Given the description of an element on the screen output the (x, y) to click on. 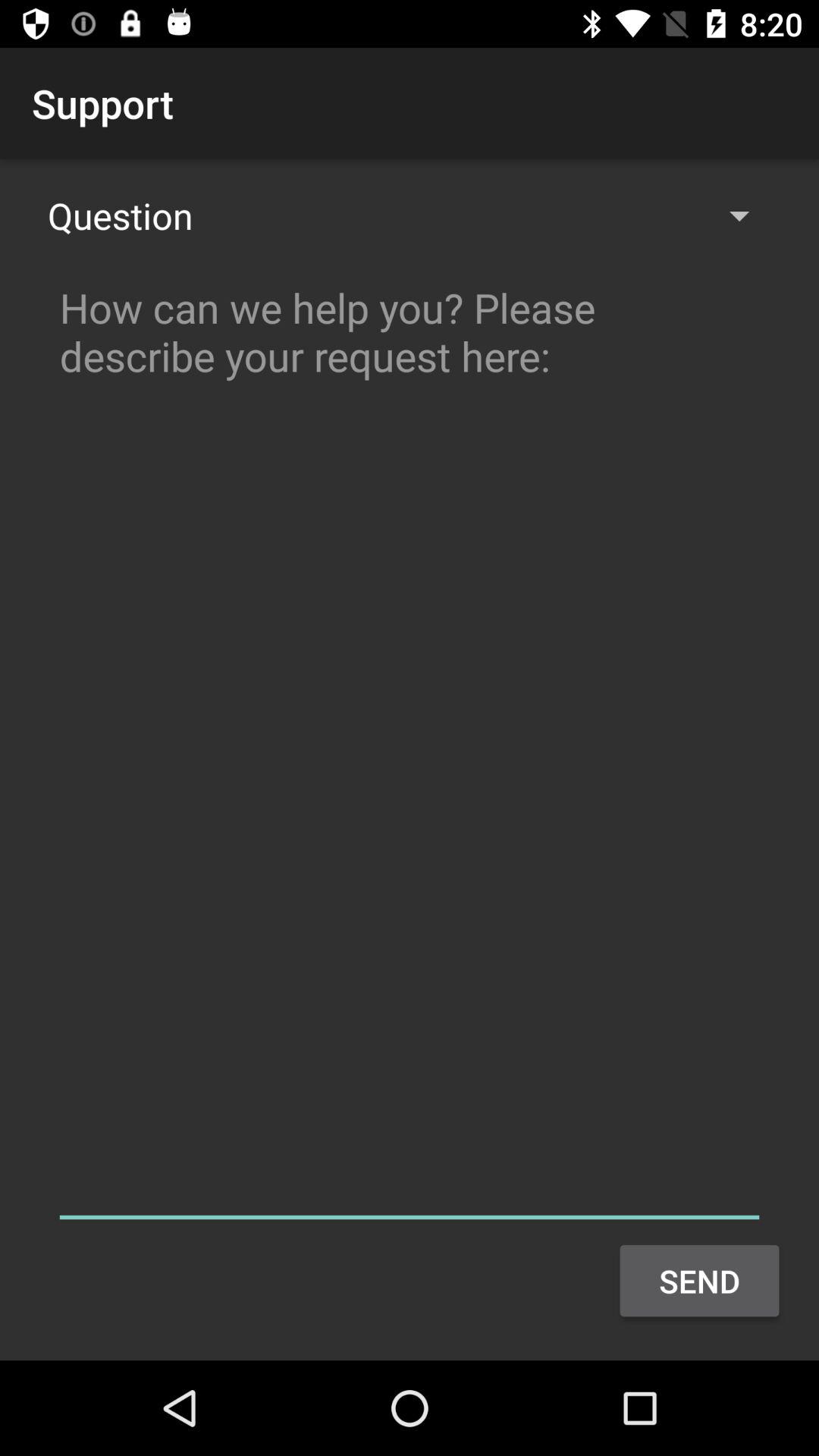
to write question (409, 746)
